Given the description of an element on the screen output the (x, y) to click on. 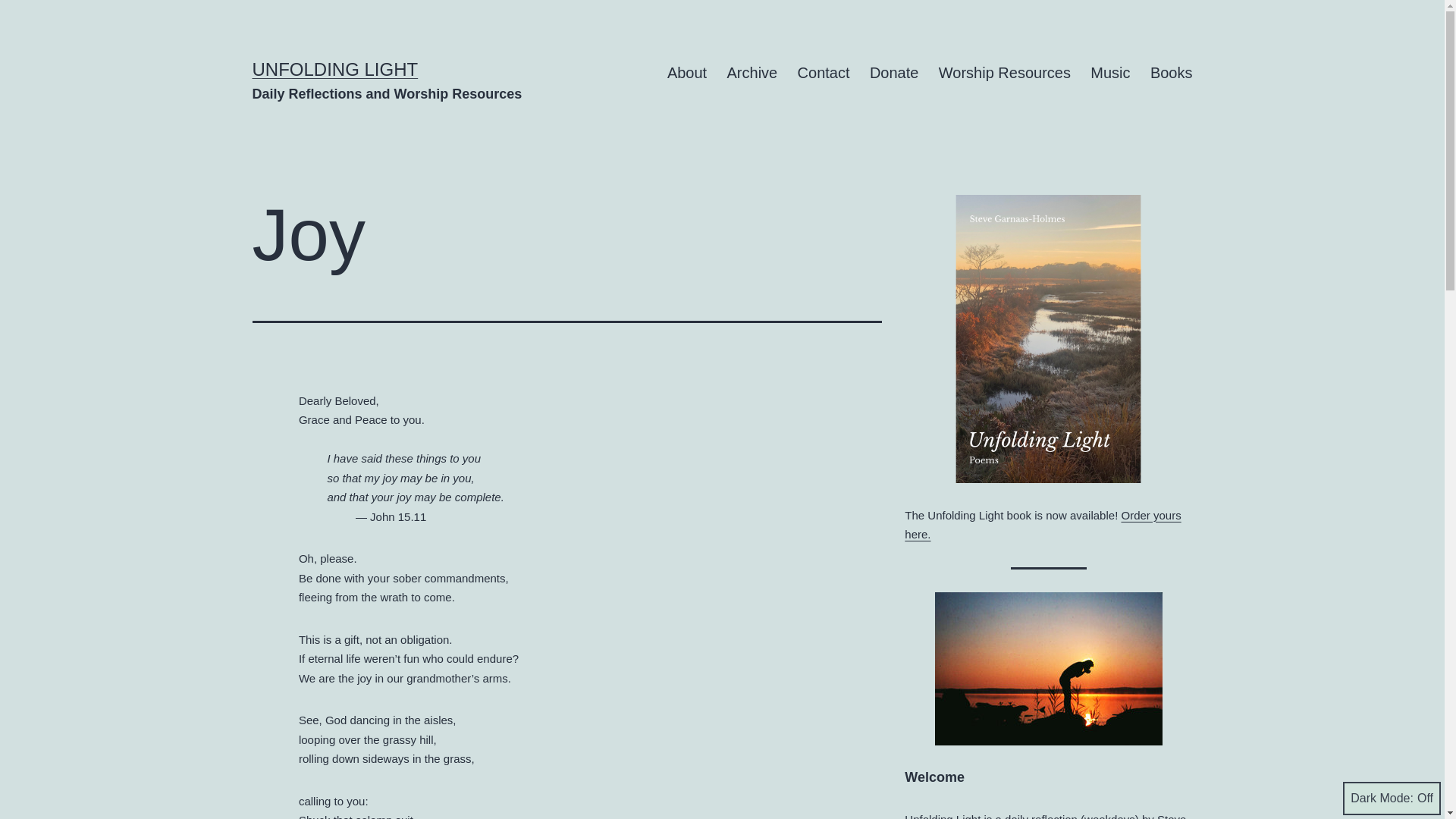
About (687, 72)
Books (1171, 72)
Archive (751, 72)
Music (1110, 72)
UNFOLDING LIGHT (334, 68)
Donate (894, 72)
Contact (823, 72)
Worship Resources (1004, 72)
Dark Mode: (1391, 798)
Order yours here. (1042, 524)
